Given the description of an element on the screen output the (x, y) to click on. 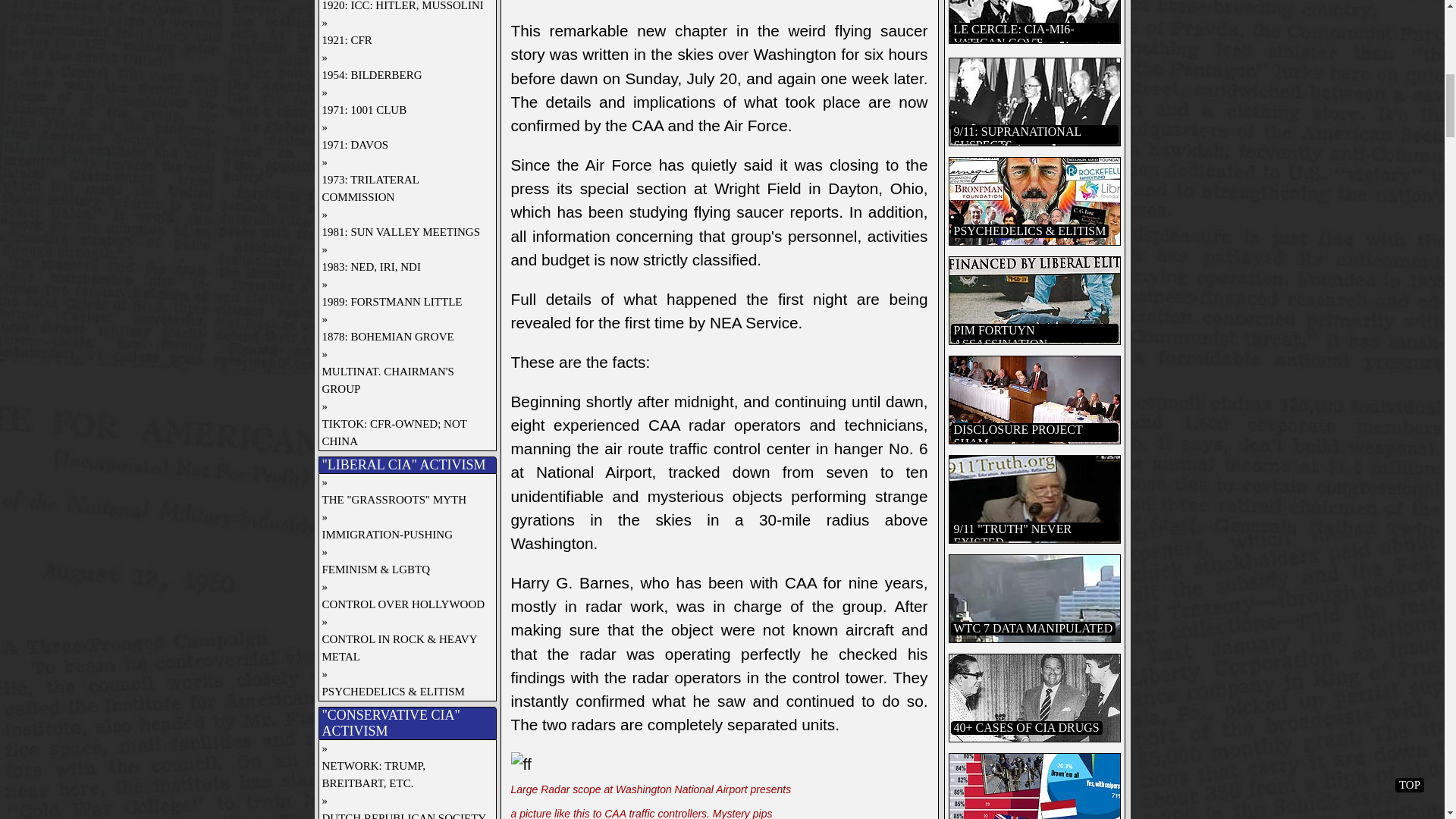
1920: ICC: HITLER, MUSSOLINI (403, 7)
1921: CFR (403, 40)
1954: BILDERBERG (403, 75)
